Given the description of an element on the screen output the (x, y) to click on. 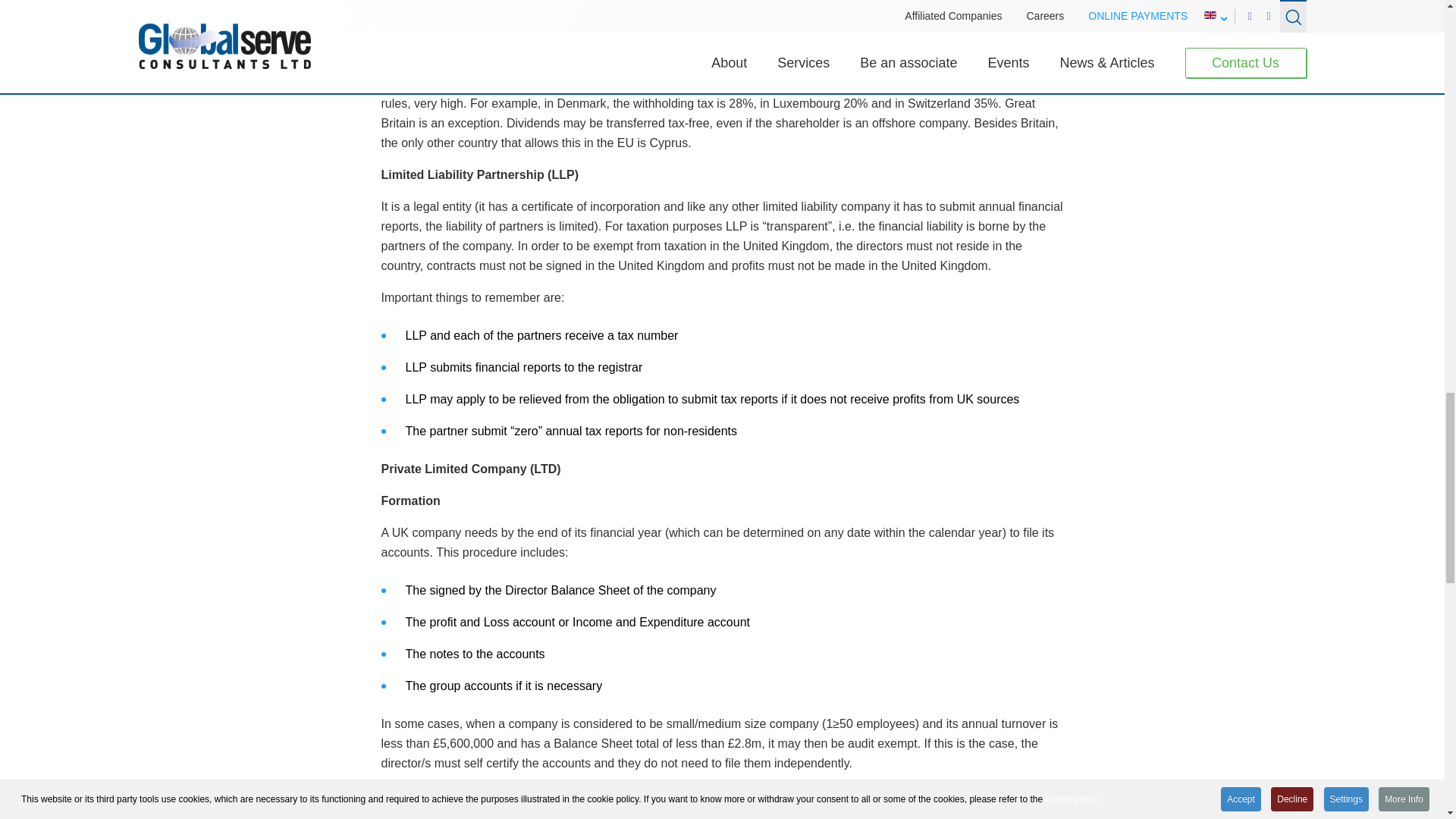
Facebook (395, 798)
LinkedIn (429, 798)
